Given the description of an element on the screen output the (x, y) to click on. 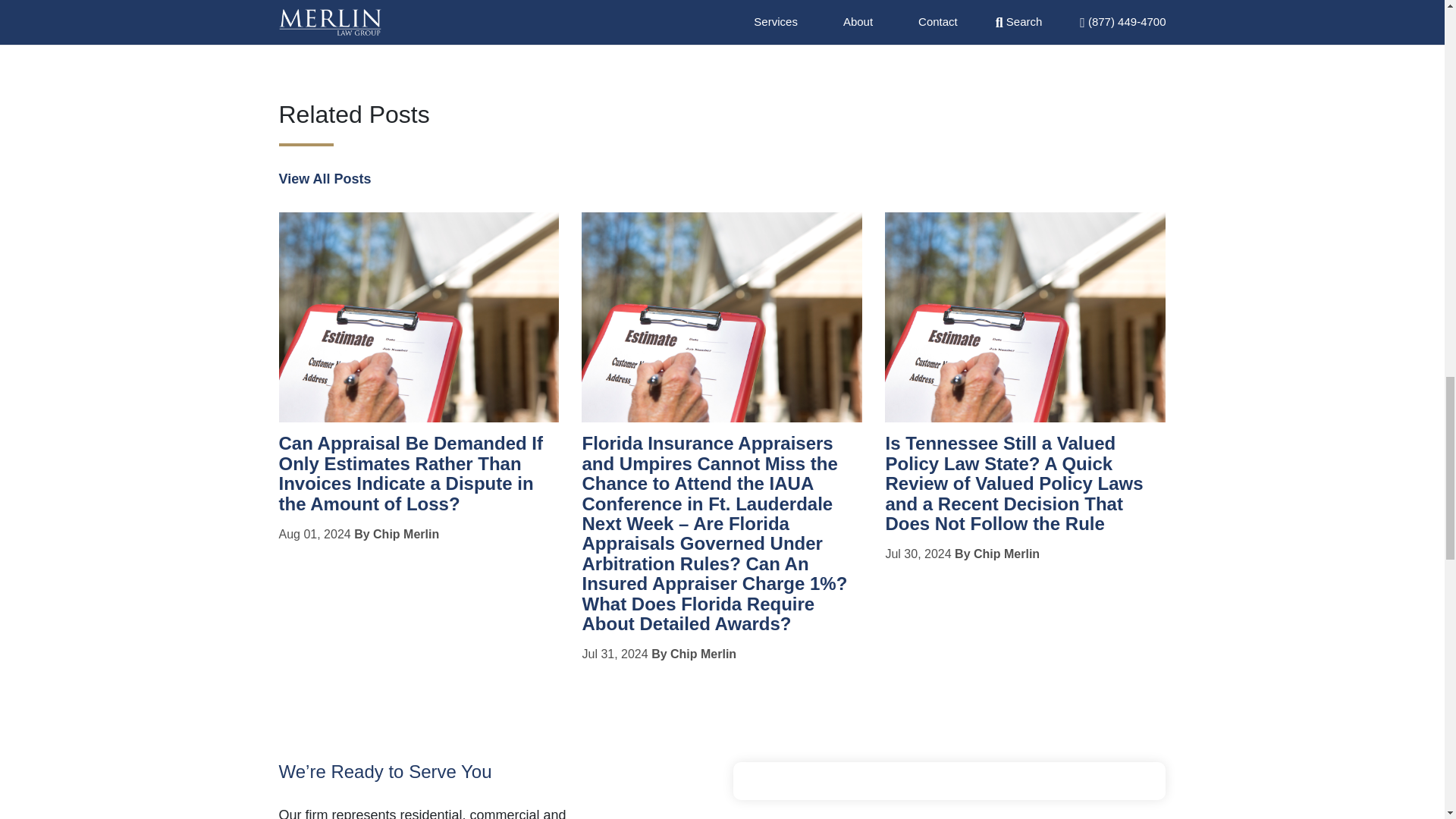
By Chip Merlin (396, 533)
View All Posts (325, 178)
By Chip Merlin (693, 653)
By Chip Merlin (997, 553)
